Given the description of an element on the screen output the (x, y) to click on. 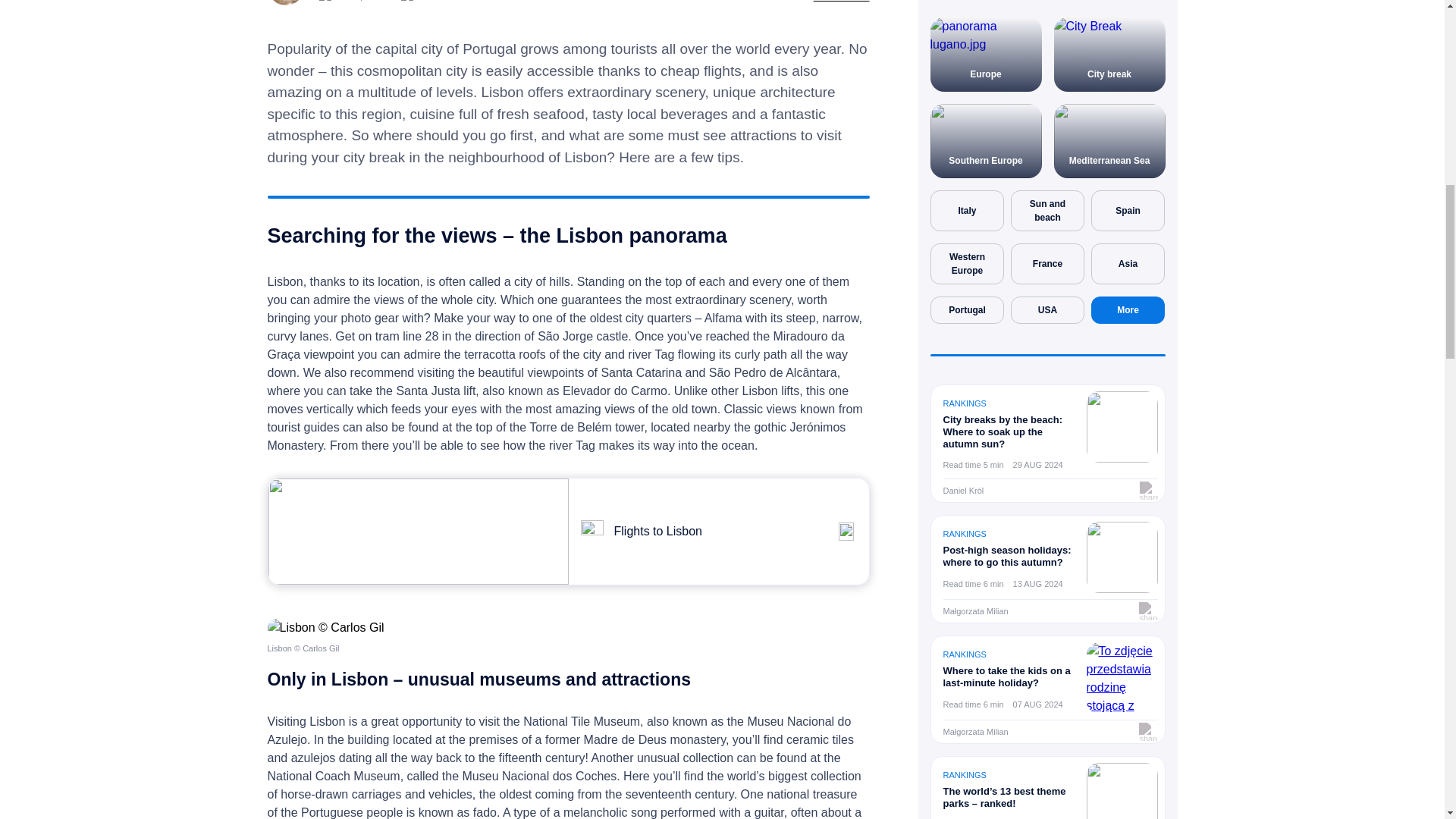
Spain (1128, 210)
Italy (967, 210)
More (1128, 309)
City break (1110, 54)
USA (1047, 309)
Asia (1128, 263)
Southern Europe (985, 141)
RANKINGS (965, 402)
Flights to Lisbon (718, 531)
Post-high season holidays: where to go this autumn? (1008, 556)
